Given the description of an element on the screen output the (x, y) to click on. 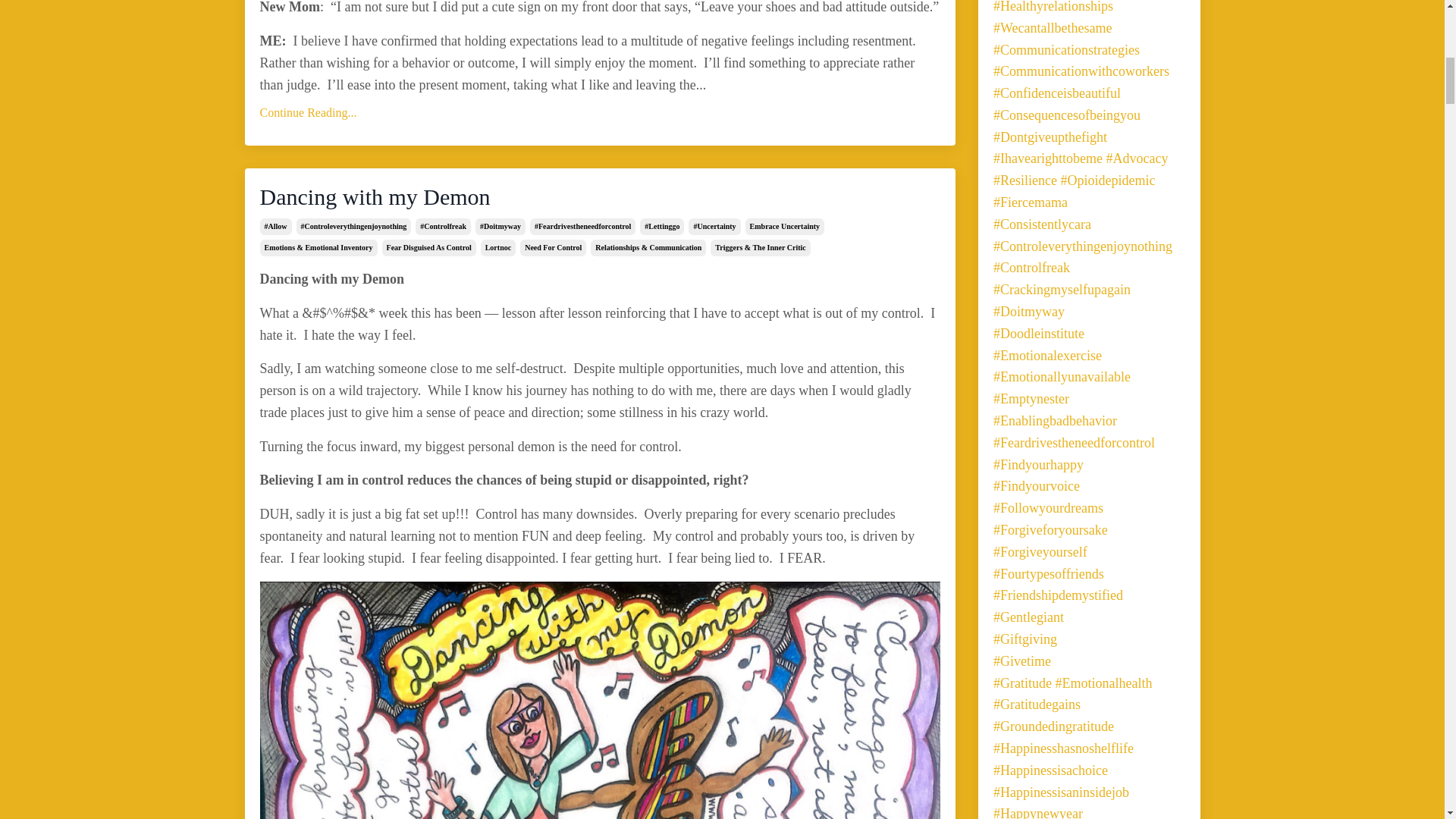
Need For Control (552, 247)
Embrace Uncertainty (784, 226)
Continue Reading... (599, 112)
Fear Disguised As Control (428, 247)
Lortnoc (497, 247)
Dancing with my Demon (599, 196)
